Given the description of an element on the screen output the (x, y) to click on. 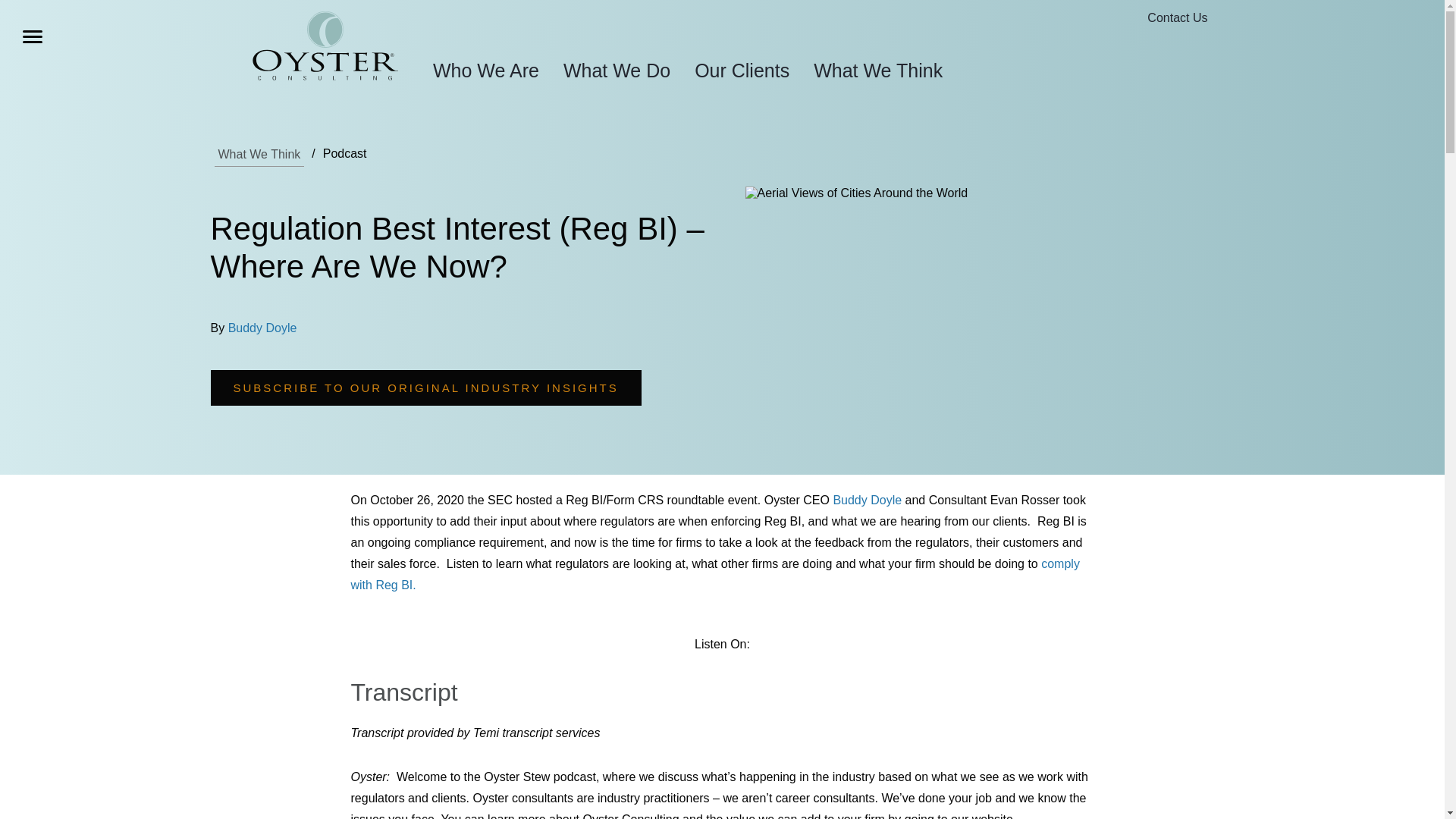
Google Podcasts (776, 644)
Oyster LLC Logo (324, 45)
Contact Us (1176, 17)
Oyster LLC Logo (324, 48)
Who We Are (485, 69)
Apple Podcasts (761, 644)
Spotify (769, 644)
What We Do (616, 69)
